Given the description of an element on the screen output the (x, y) to click on. 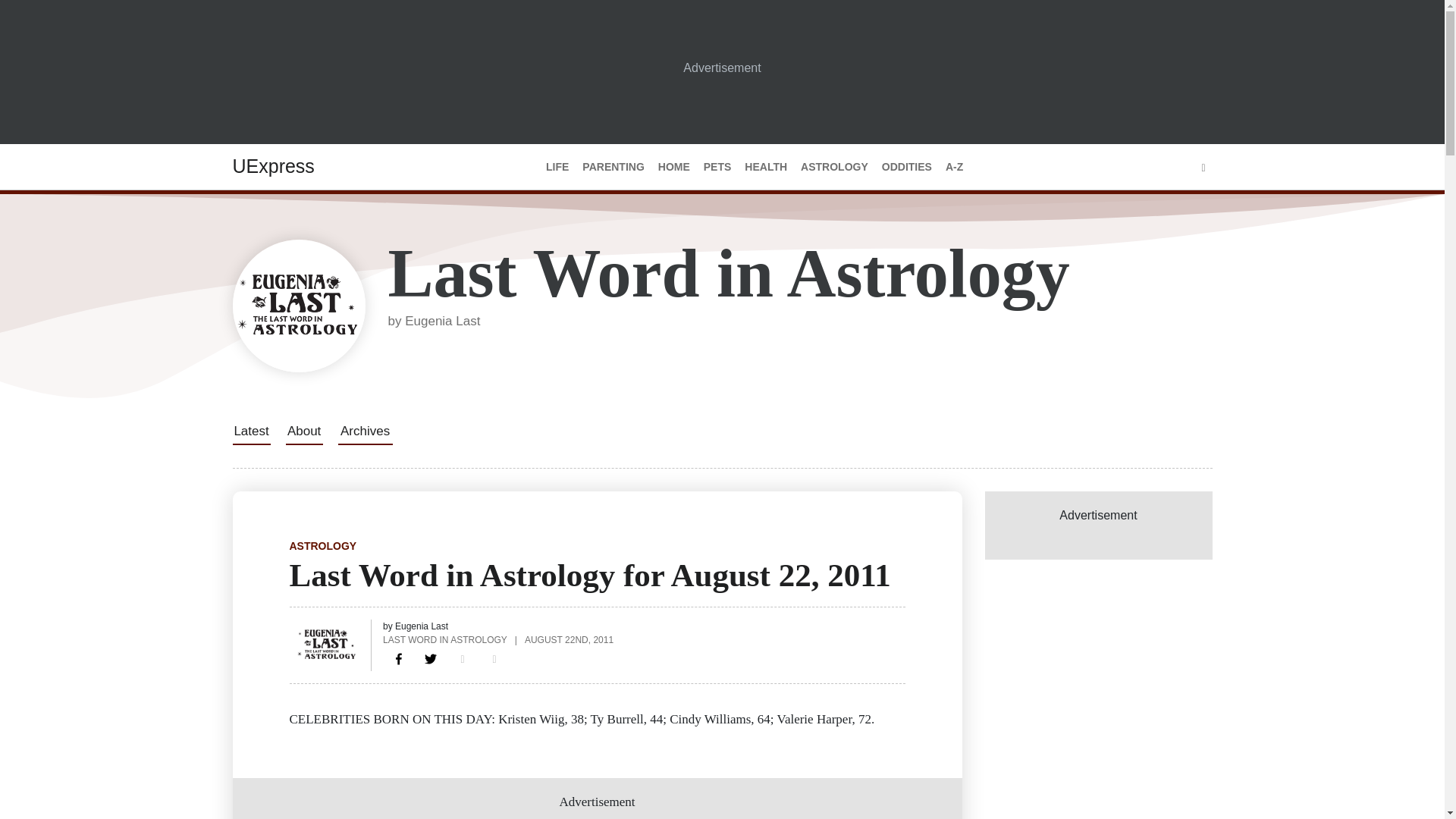
UExpress (272, 166)
Archives (365, 431)
PETS (717, 166)
LAST WORD IN ASTROLOGY (444, 639)
HEALTH (765, 166)
A-Z (954, 166)
PARENTING (612, 166)
About (304, 431)
ODDITIES (907, 166)
Last Word in Astrology for August 22, 2011 (398, 658)
ASTROLOGY (834, 166)
LIFE (556, 166)
HOME (673, 166)
ASTROLOGY (322, 545)
Latest (251, 431)
